Given the description of an element on the screen output the (x, y) to click on. 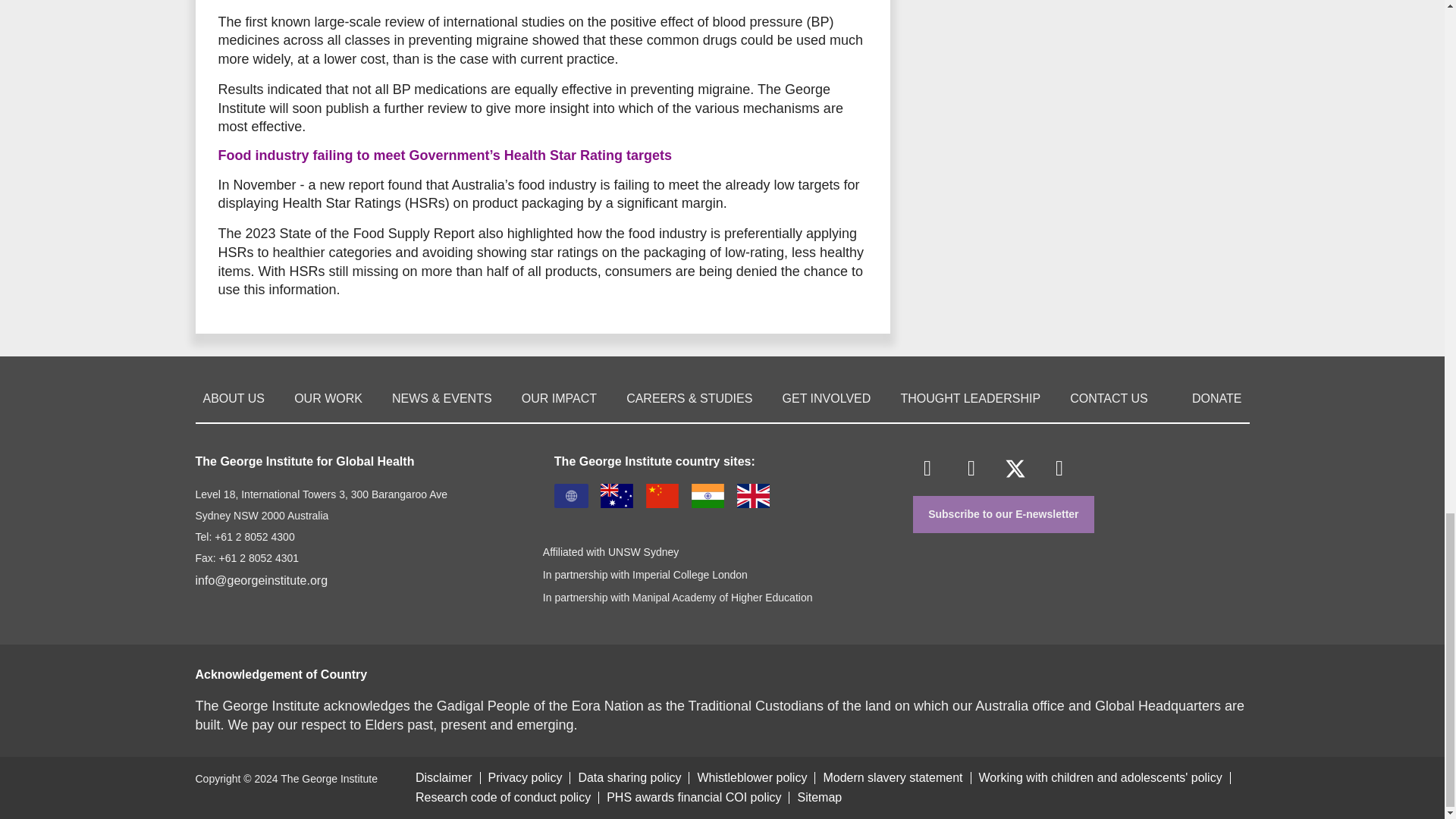
Food industry government health star rating (444, 155)
